Given the description of an element on the screen output the (x, y) to click on. 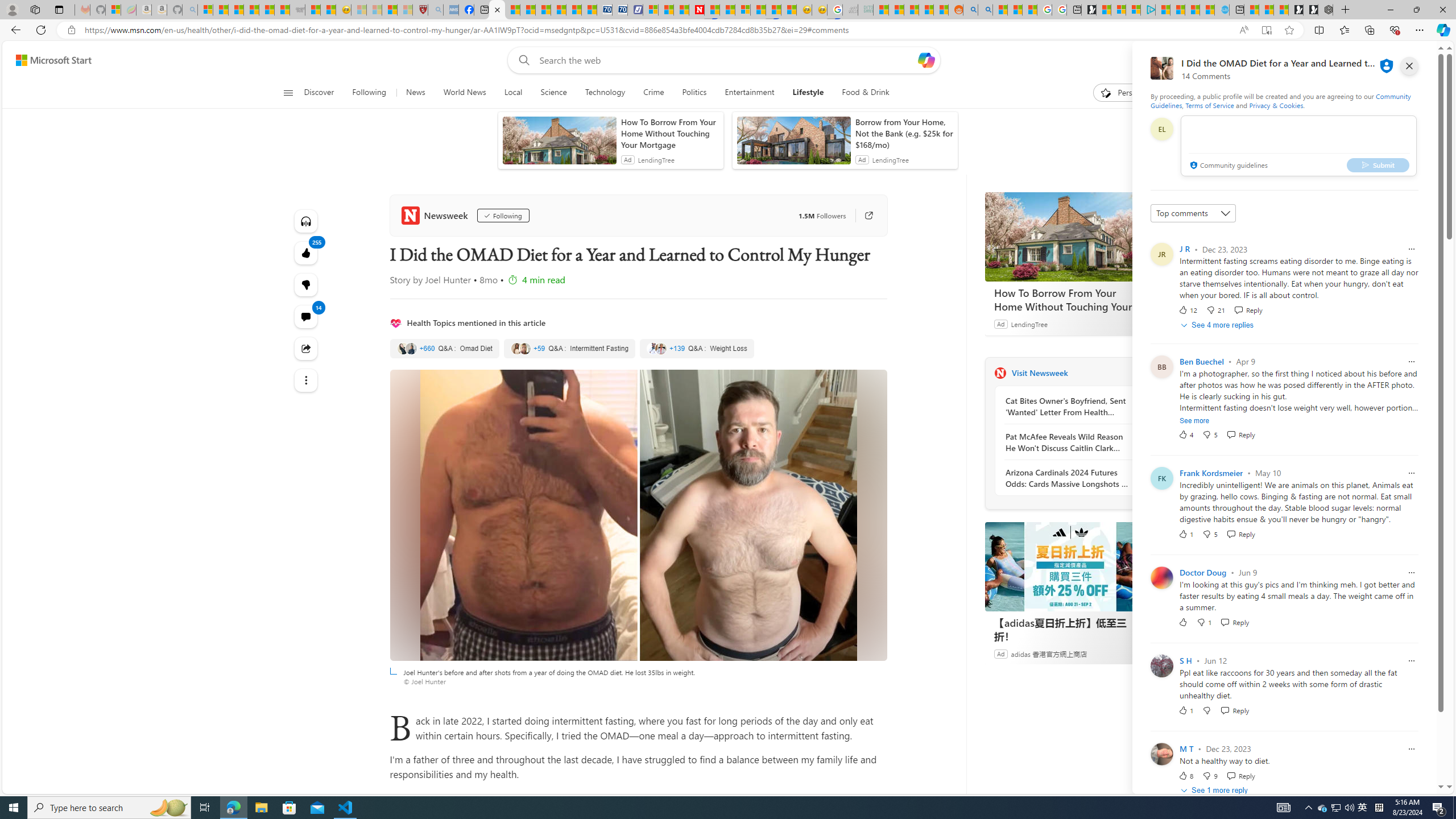
Profile Picture (1161, 753)
Newsweek (436, 215)
